Given the description of an element on the screen output the (x, y) to click on. 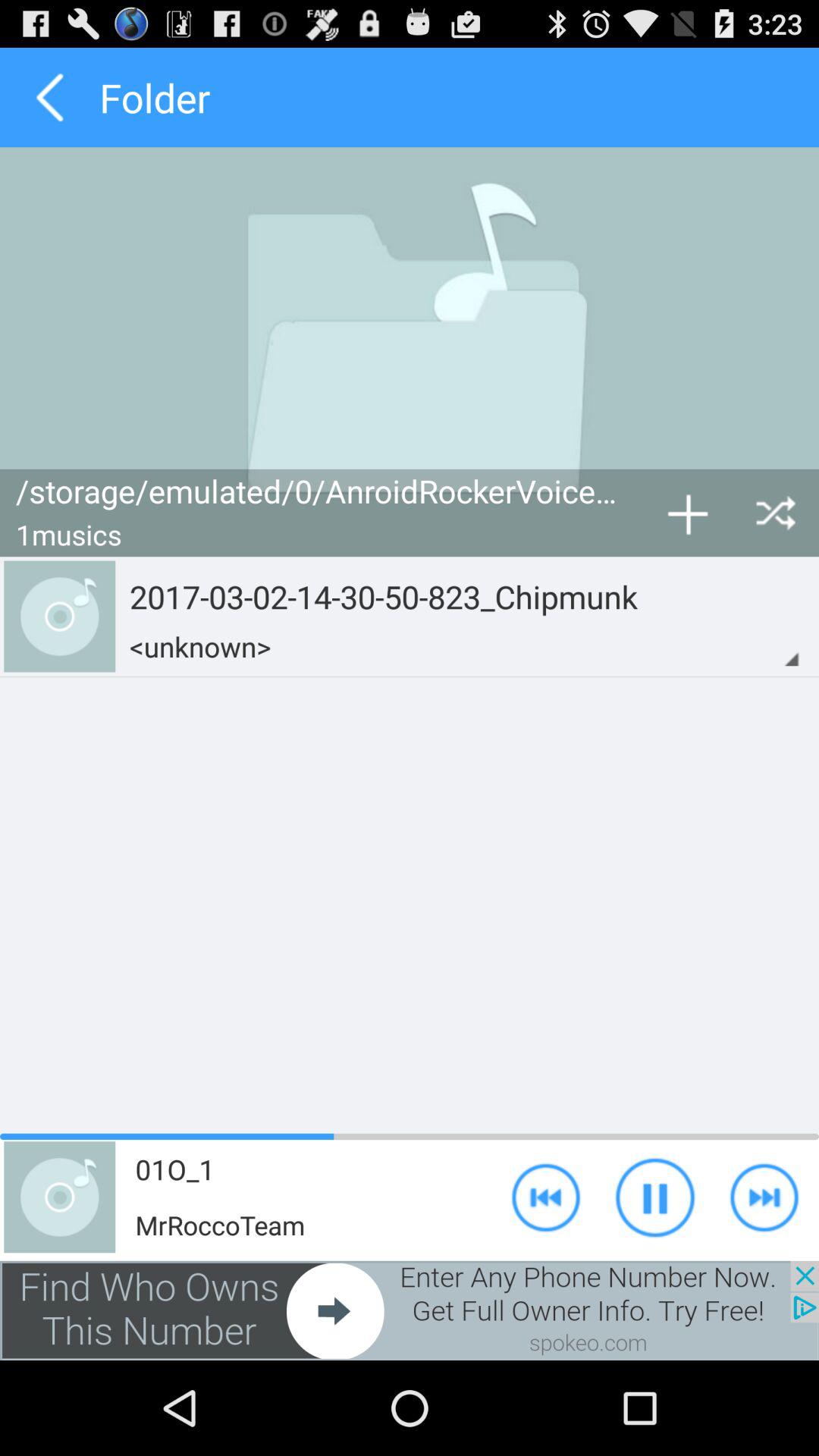
folder option (49, 97)
